Given the description of an element on the screen output the (x, y) to click on. 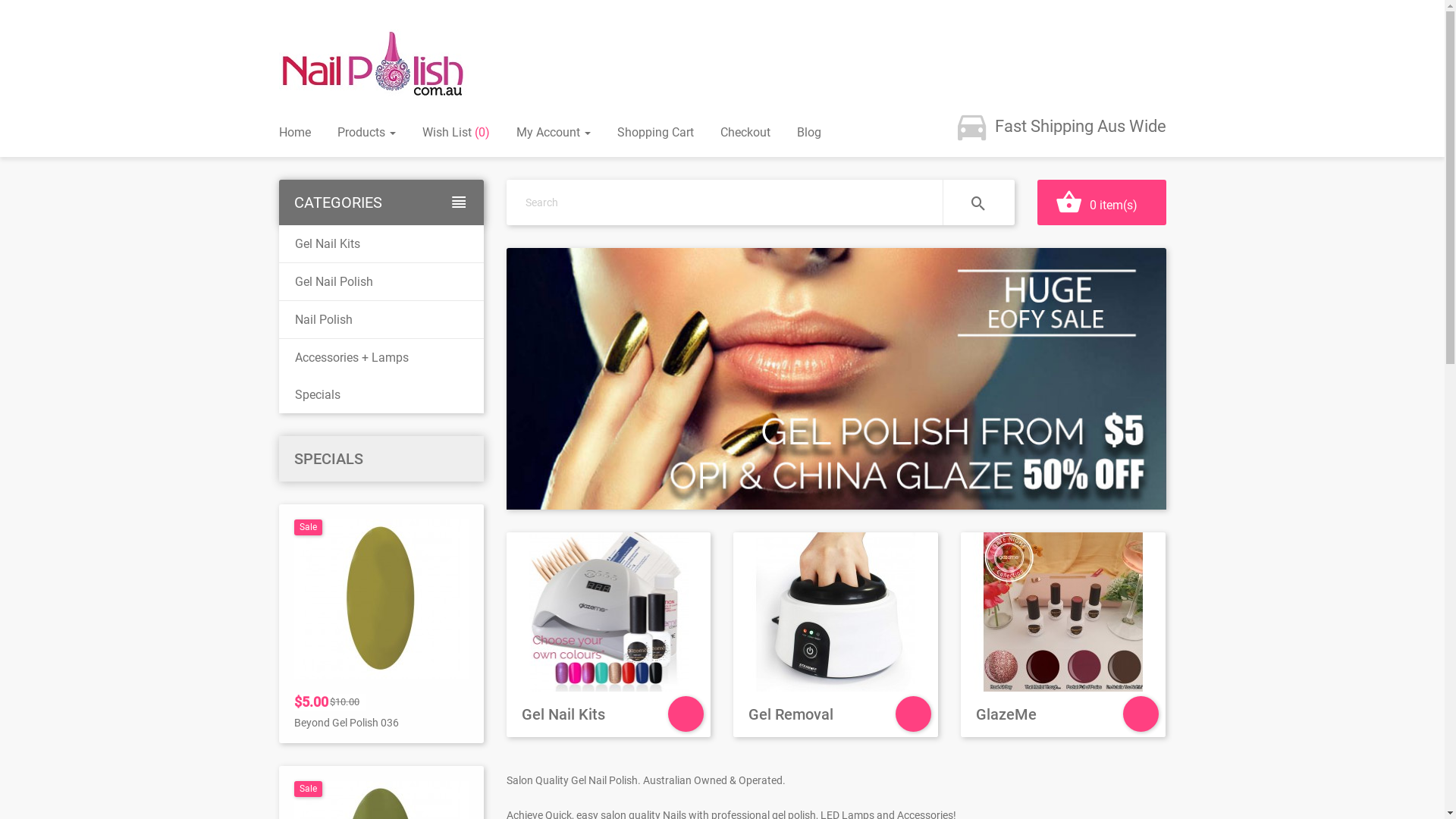
Accessories + Lamps Element type: text (381, 357)
Nail Polish Element type: text (381, 319)
Wish List (0) Element type: text (455, 132)
My Account Element type: text (552, 132)
GlazeMe Element type: text (1062, 634)
Nail Polish Australia - nailpolish.com.au Element type: hover (373, 64)
Home Element type: text (294, 132)
0 item(s) Element type: text (1101, 202)
Blog Element type: text (808, 132)
Gel Nail Polish Element type: text (381, 281)
Checkout Element type: text (745, 132)
Gel Removal Element type: text (835, 634)
Beyond Gel Polish 036 Element type: hover (381, 598)
Gel Nail Kits Element type: text (608, 634)
Specials Element type: text (381, 394)
Shopping Cart Element type: text (655, 132)
Beyond Gel Polish 036 Element type: text (346, 722)
Products Element type: text (365, 132)
Gel Nail Kits Element type: text (381, 243)
